Given the description of an element on the screen output the (x, y) to click on. 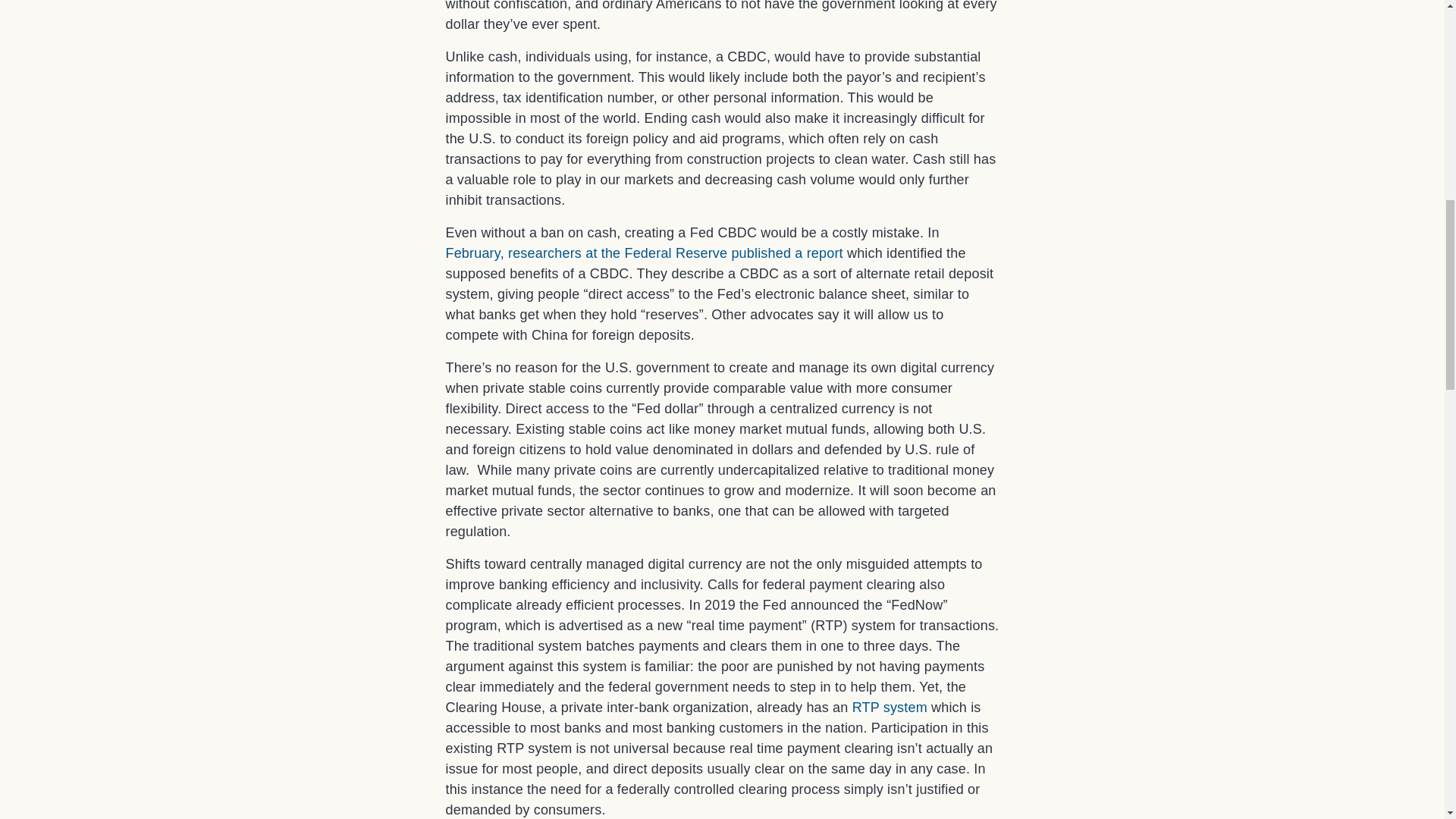
RTP system (889, 707)
